Given the description of an element on the screen output the (x, y) to click on. 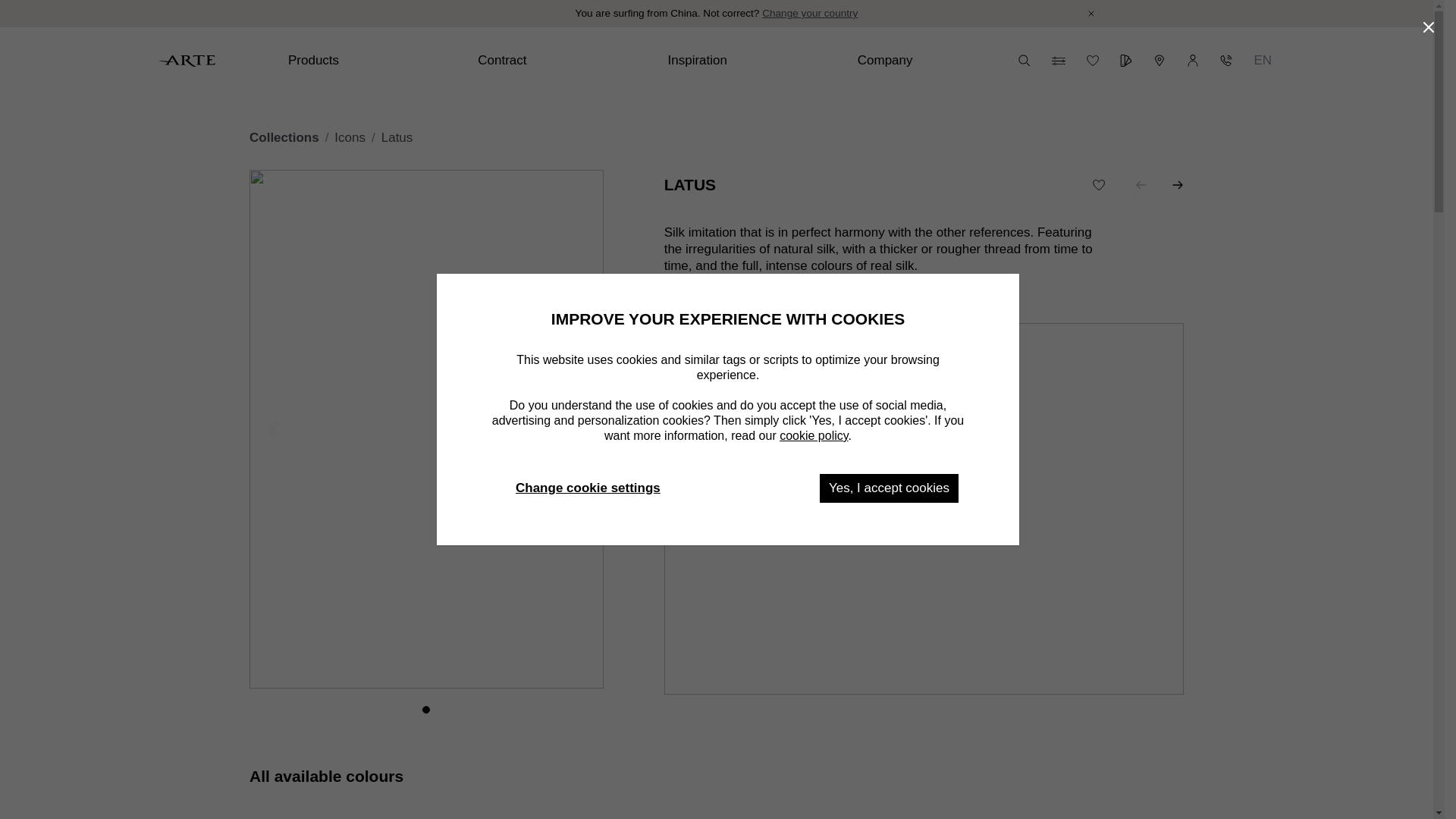
EN (1262, 60)
Contract (560, 60)
Inspiration (749, 60)
Next Pattern (1176, 184)
Products (370, 60)
Change your country (809, 13)
Close (1091, 13)
Company (940, 60)
Previous Pattern (1140, 184)
Go to home (186, 60)
